Given the description of an element on the screen output the (x, y) to click on. 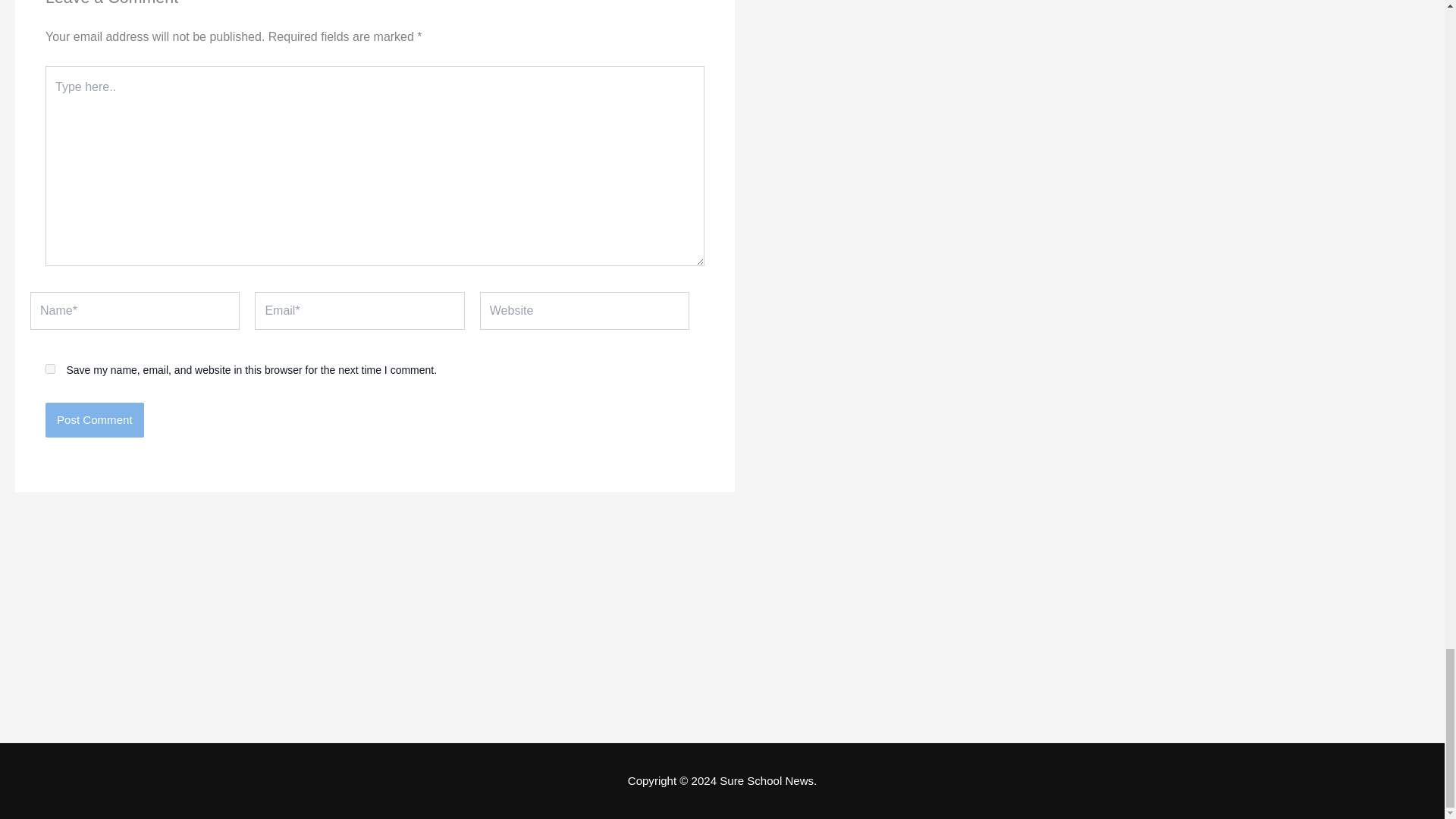
Post Comment (94, 420)
Post Comment (94, 420)
yes (50, 368)
